Given the description of an element on the screen output the (x, y) to click on. 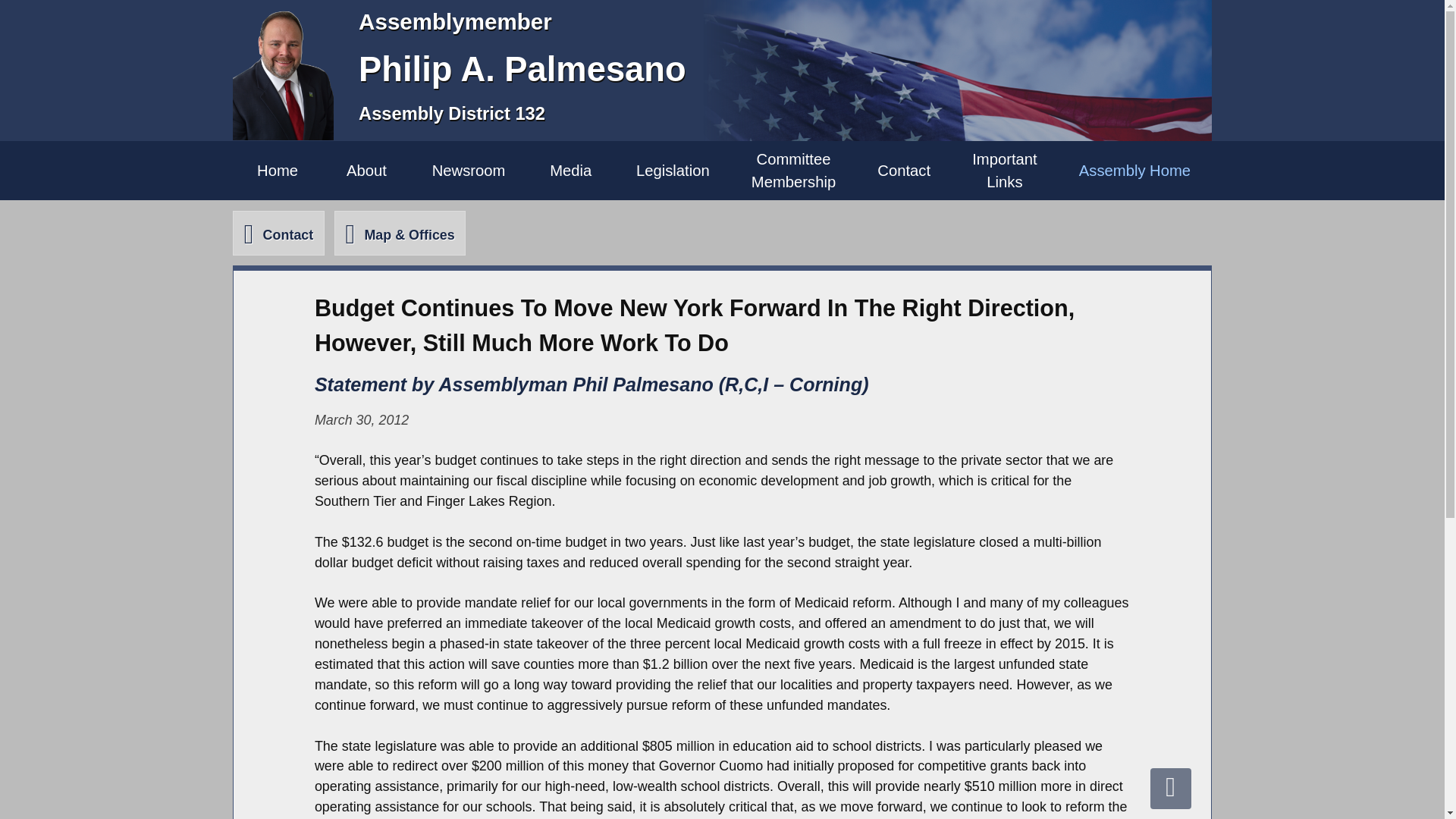
Home (276, 169)
Media (569, 169)
Contact (904, 169)
Newsroom (1005, 169)
Contact (467, 169)
Legislation (277, 232)
Assembly Home (793, 169)
About (672, 169)
